Given the description of an element on the screen output the (x, y) to click on. 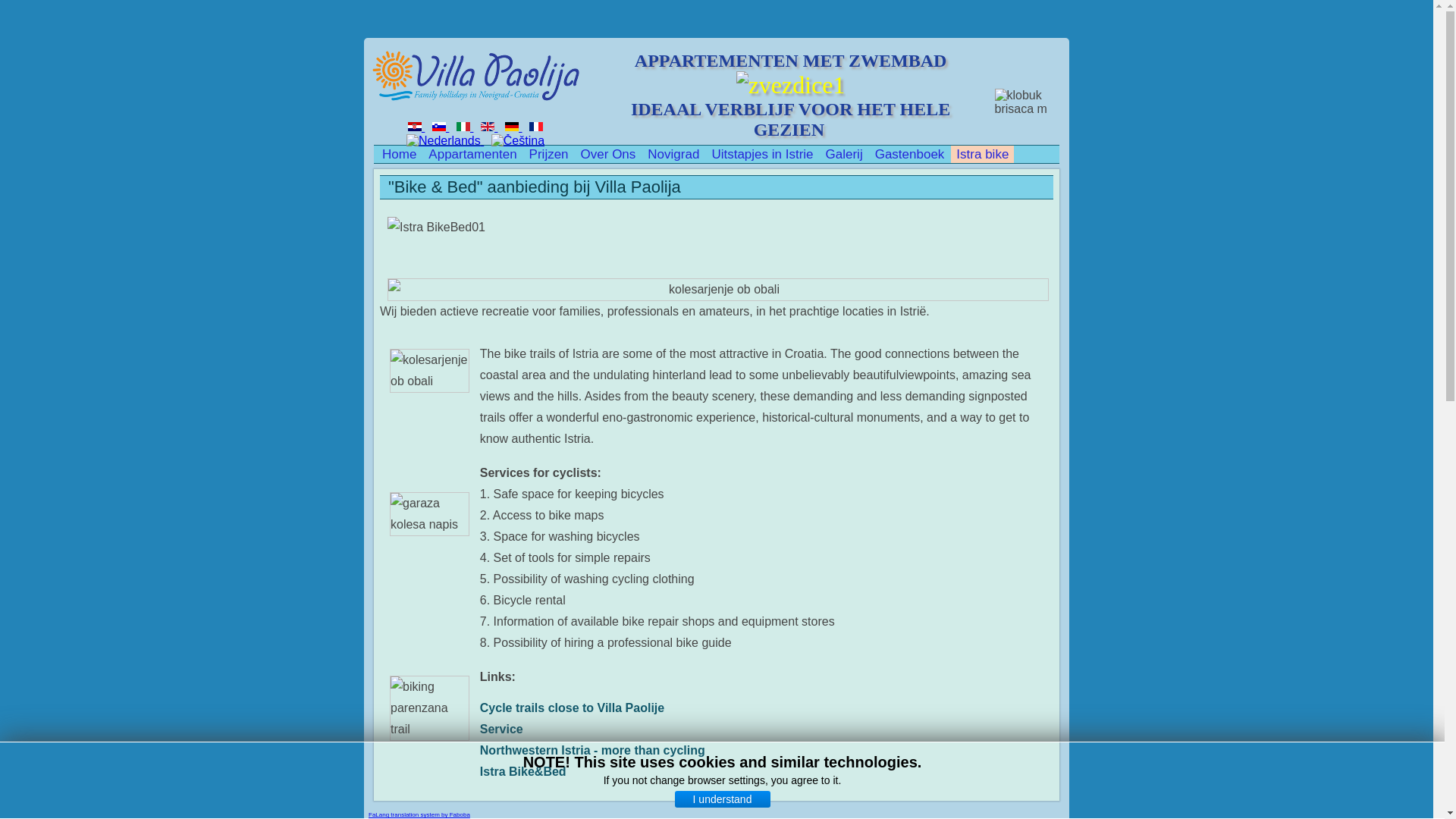
Novigrad (673, 153)
Uitstapjes in Istrie (762, 153)
Gastenboek (909, 153)
Nederlands (443, 141)
Deutsch (511, 126)
Slovensko (438, 126)
Istra bike (981, 153)
Home (399, 153)
Cycle trails close to Villa Paolije (571, 707)
Galerij (844, 153)
